Given the description of an element on the screen output the (x, y) to click on. 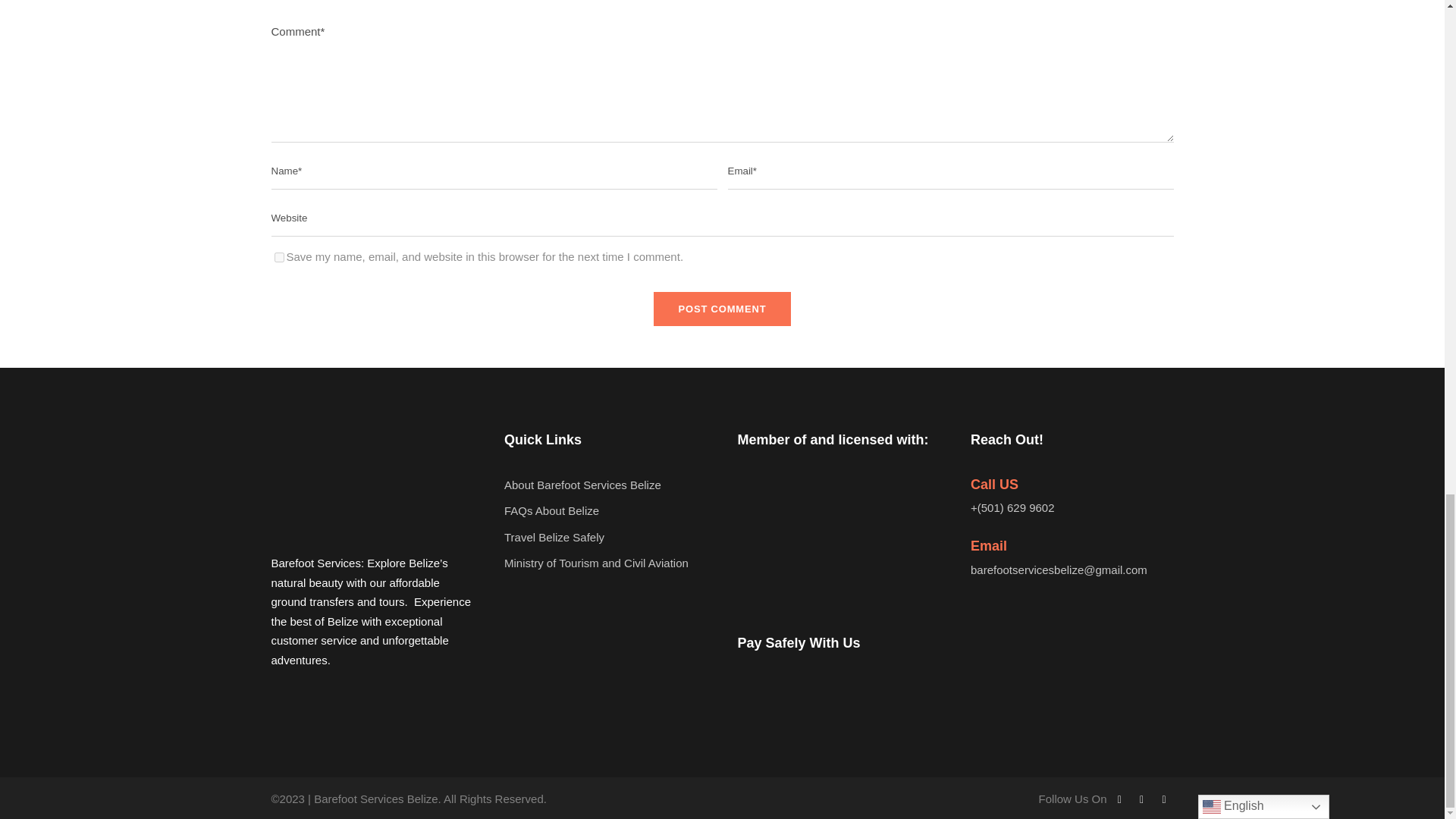
yes (279, 257)
Post Comment (722, 308)
